Given the description of an element on the screen output the (x, y) to click on. 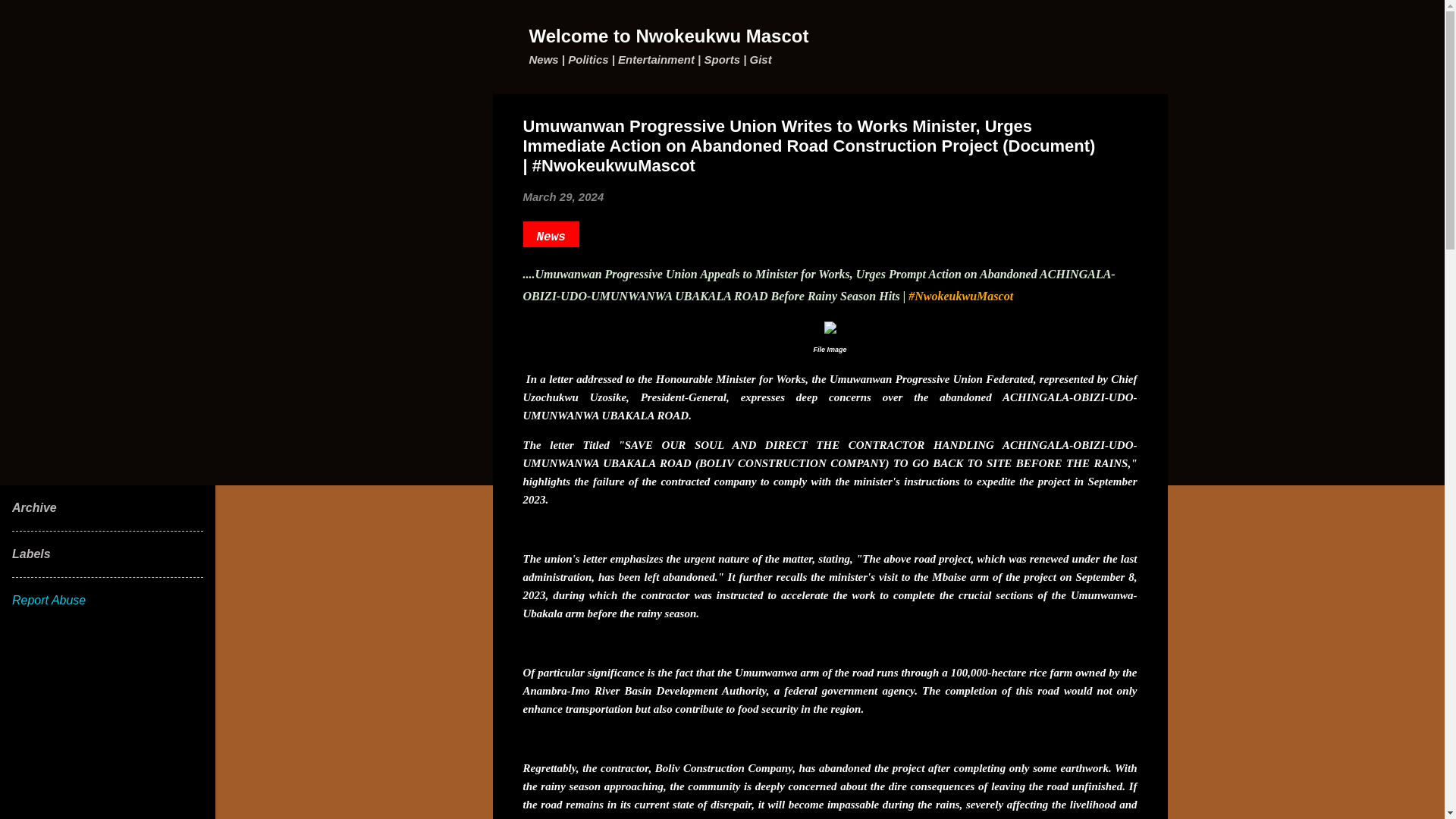
March 29, 2024 (563, 196)
permanent link (563, 196)
Welcome to Nwokeukwu Mascot (669, 35)
Search (29, 18)
